Given the description of an element on the screen output the (x, y) to click on. 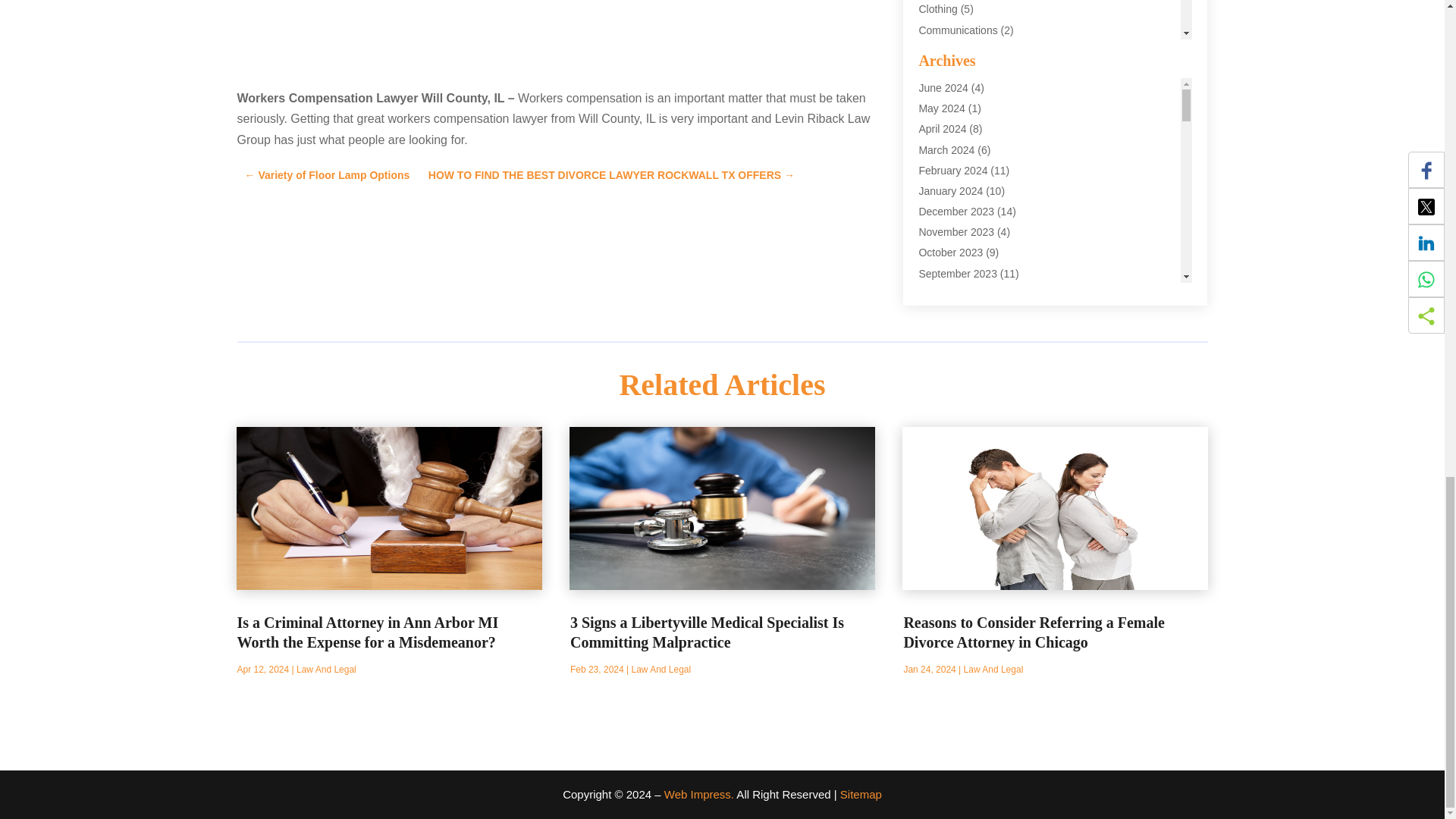
Electricians (945, 153)
Events (934, 174)
Finance And Investment (975, 194)
Education (941, 133)
Dental (933, 111)
Clothing (937, 9)
Construction And Maintenance (990, 91)
Health And Fitness (962, 277)
Hardware And Software (974, 256)
Communications (957, 30)
Community (945, 50)
Gifts (929, 236)
Computer And Internet (971, 70)
